Given the description of an element on the screen output the (x, y) to click on. 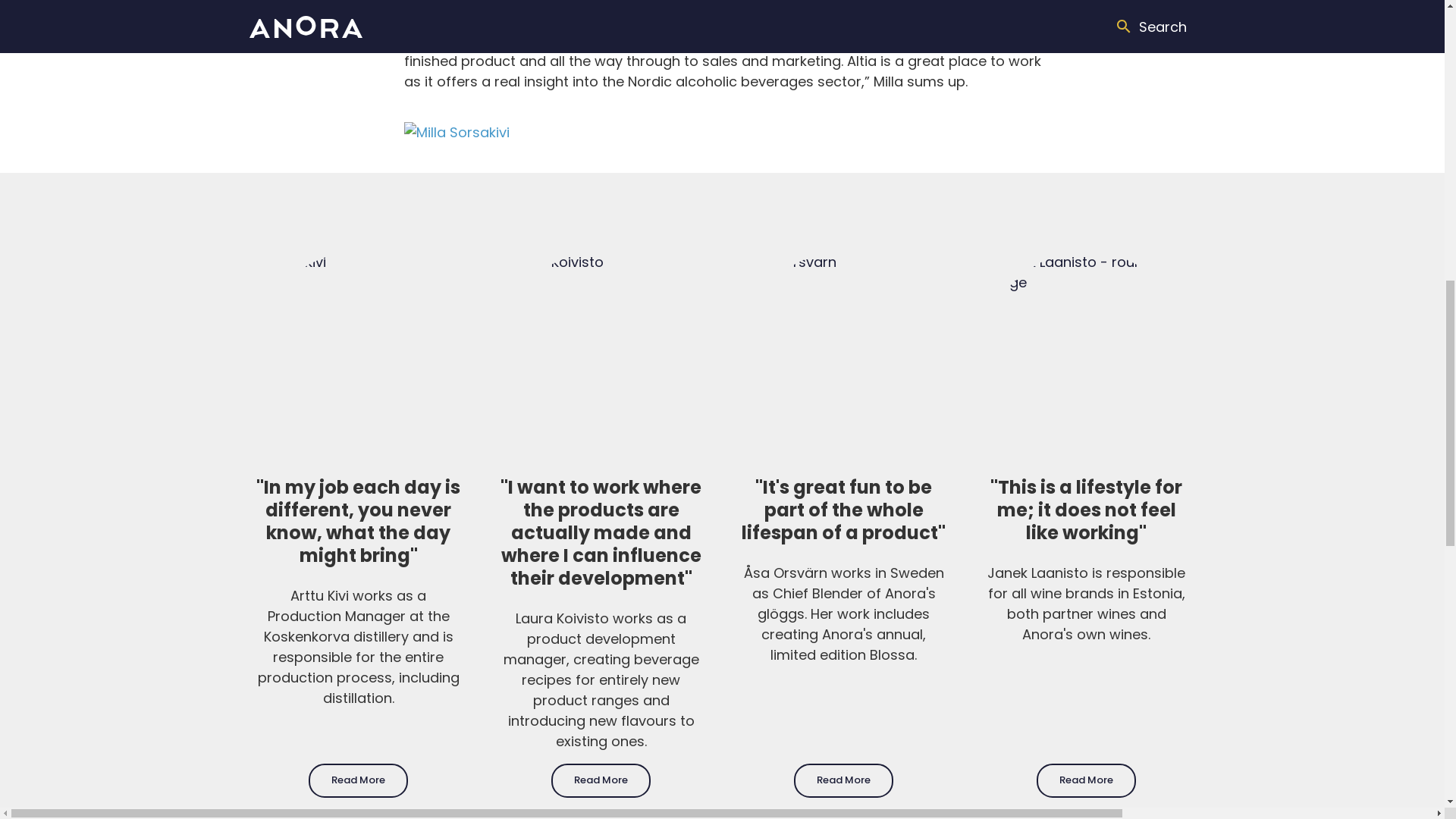
Read More (843, 780)
Read More (600, 780)
Read More (1085, 780)
Read More (357, 780)
